Given the description of an element on the screen output the (x, y) to click on. 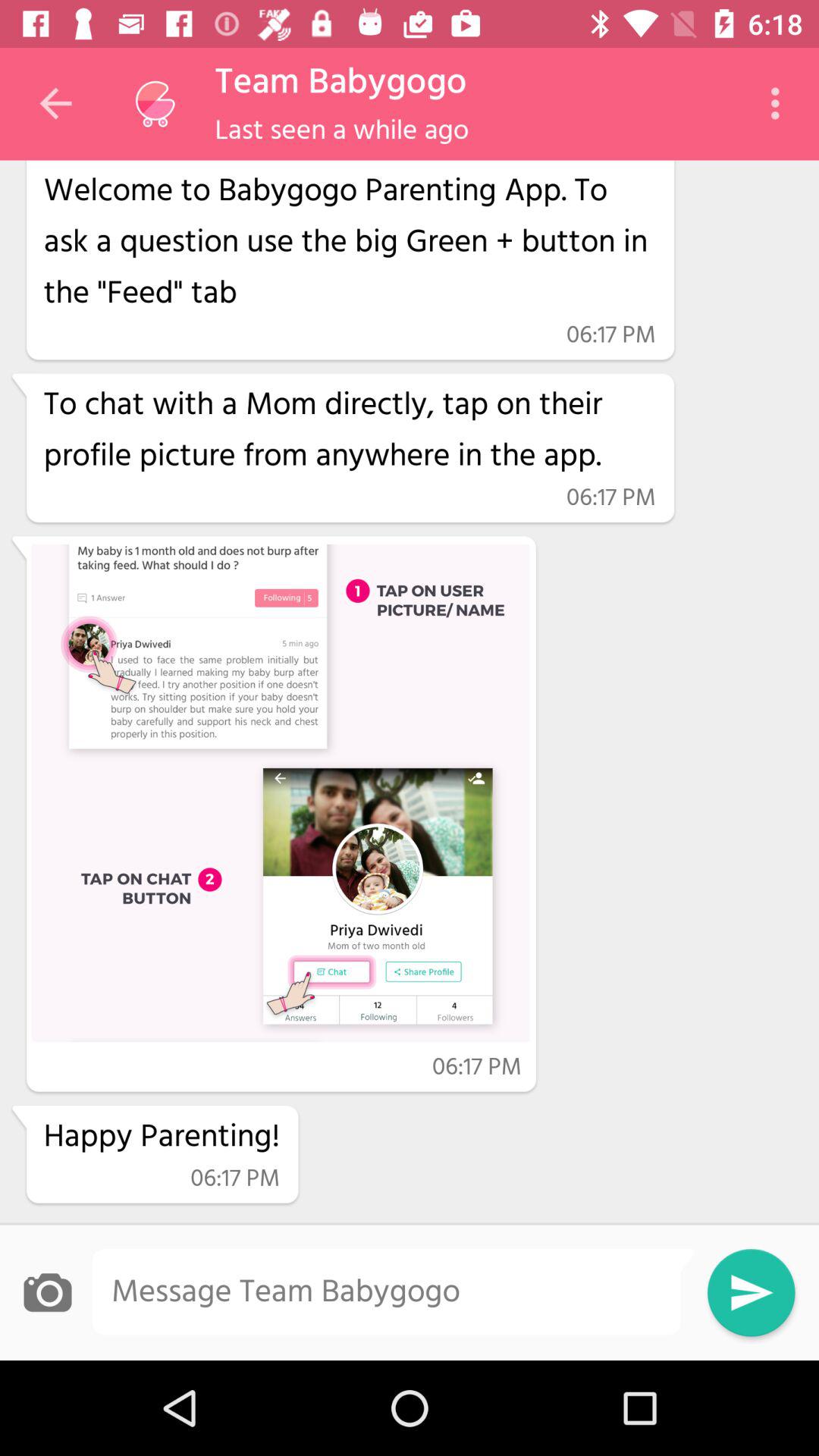
choose icon above hi app crawler item (155, 103)
